Given the description of an element on the screen output the (x, y) to click on. 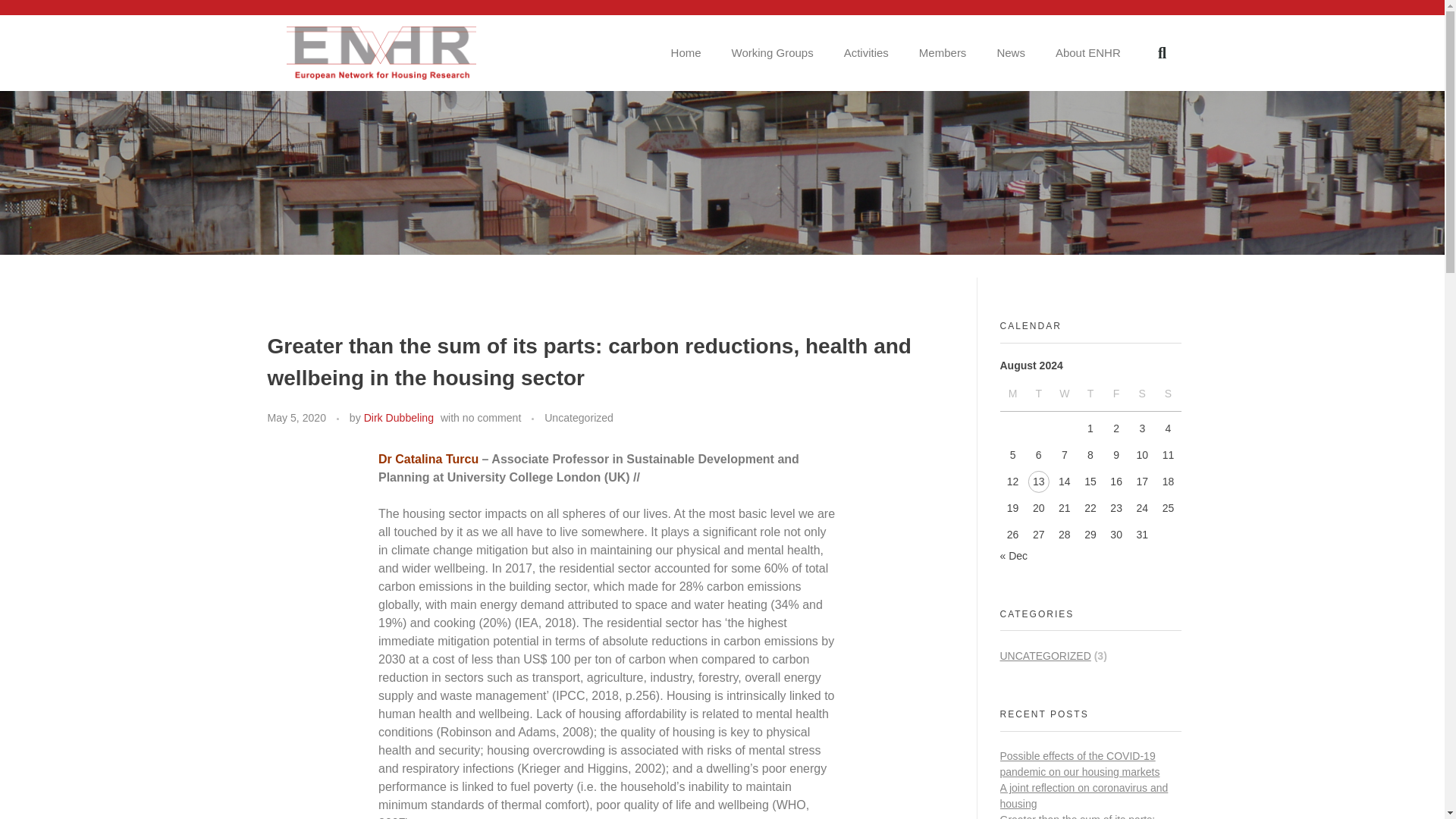
View all posts in Uncategorized (578, 417)
Activities (866, 52)
Working Groups (772, 52)
Members (942, 52)
About ENHR (1088, 52)
View all posts by Dirk Dubbeling (398, 417)
